Given the description of an element on the screen output the (x, y) to click on. 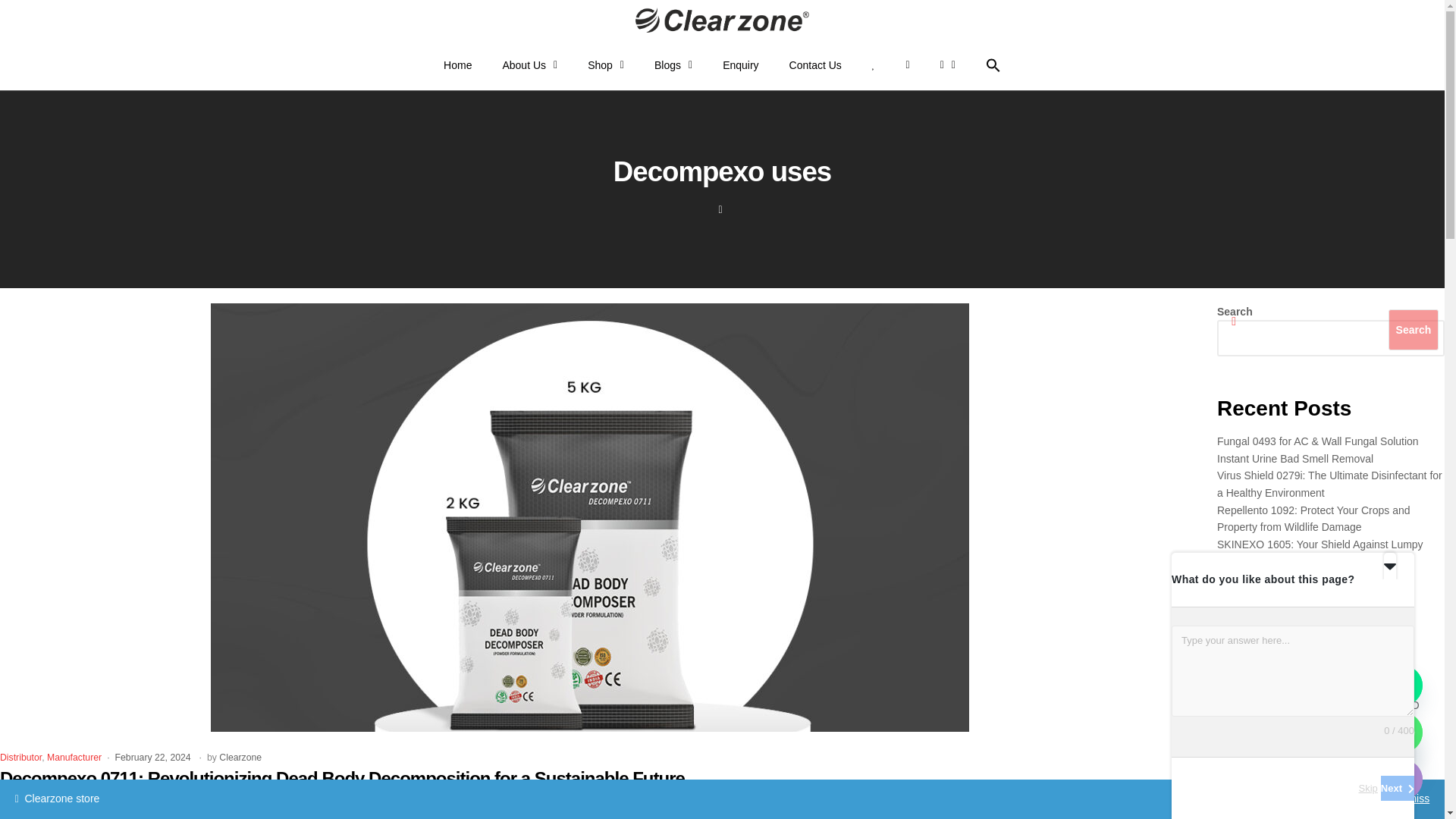
Contact Us (815, 64)
About Us (529, 64)
Blogs (673, 64)
Shop (605, 64)
Enquiry (740, 64)
Home (457, 64)
